Given the description of an element on the screen output the (x, y) to click on. 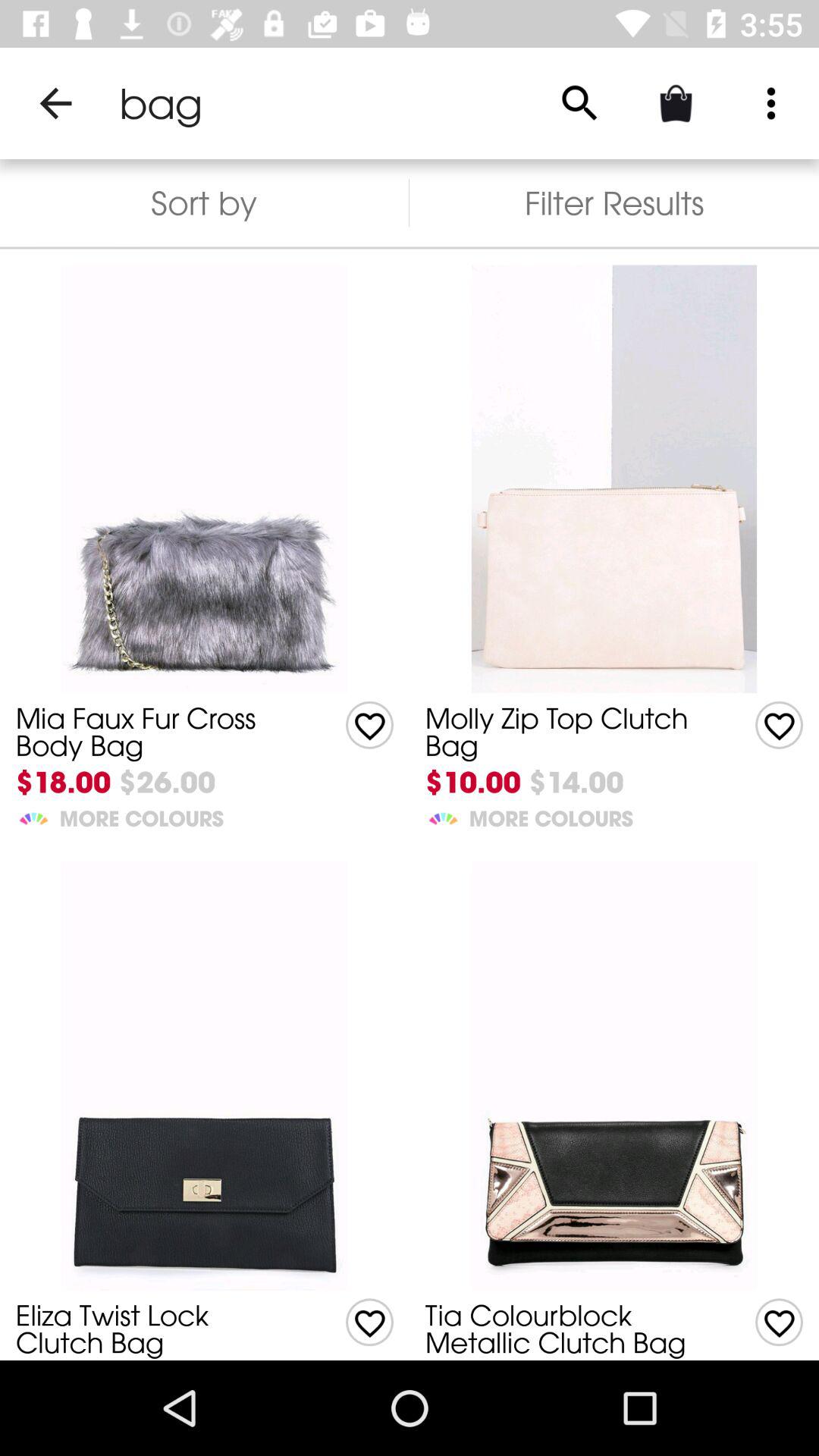
like it (779, 725)
